Given the description of an element on the screen output the (x, y) to click on. 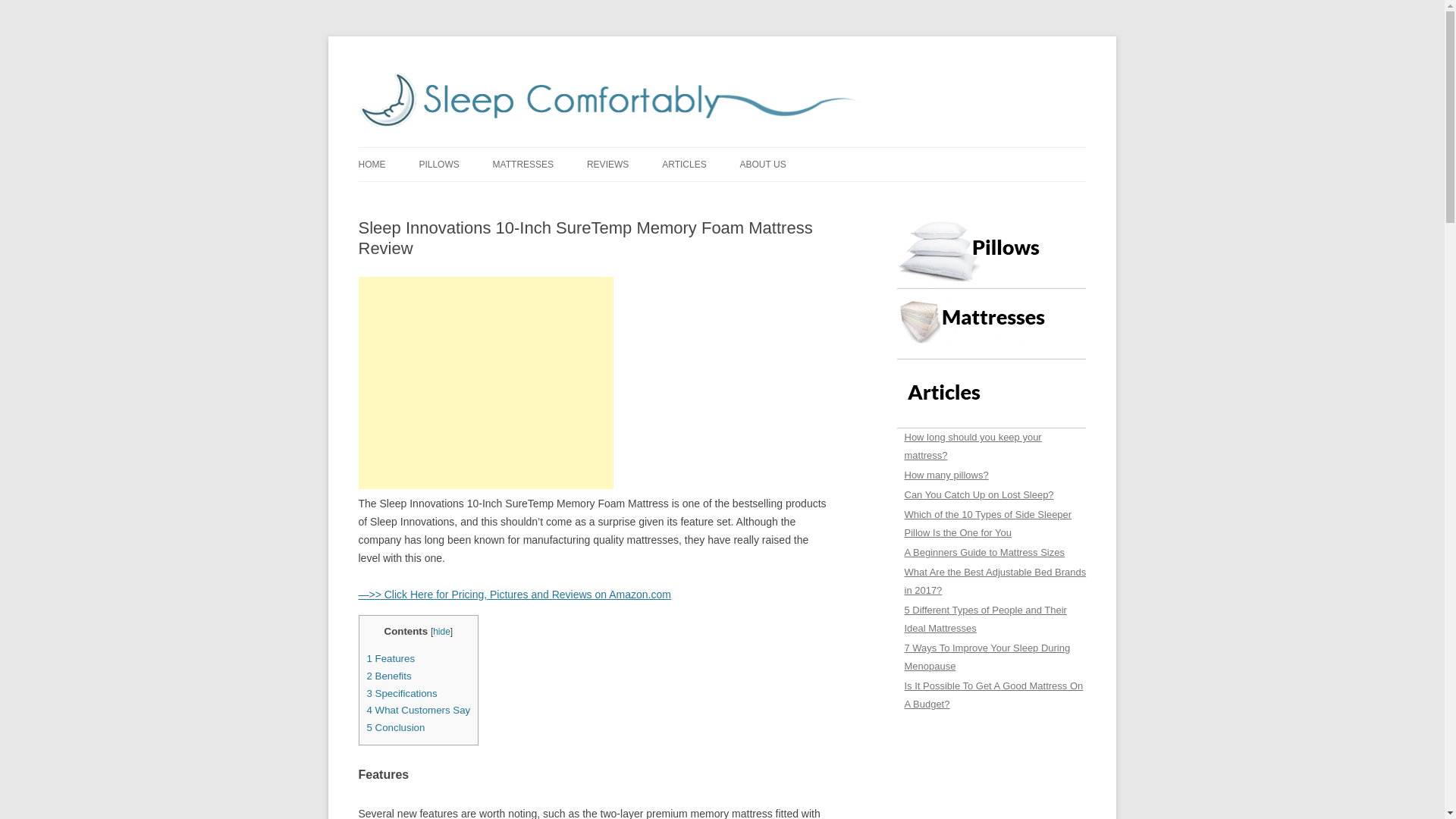
Advertisement (485, 382)
1 Features (390, 658)
5 Conclusion (395, 727)
A Beginners Guide to Mattress Sizes (991, 553)
2 Benefits (389, 675)
Is It Possible To Get A Good Mattress On A Budget? (991, 695)
ABOUT US (762, 164)
REVIEWS (607, 164)
Can You Catch Up on Lost Sleep? (991, 496)
7 Ways To Improve Your Sleep During Menopause (991, 658)
How long should you keep your mattress? (991, 447)
4 What Customers Say (418, 709)
ARTICLES (684, 164)
How many pillows? (991, 476)
